Given the description of an element on the screen output the (x, y) to click on. 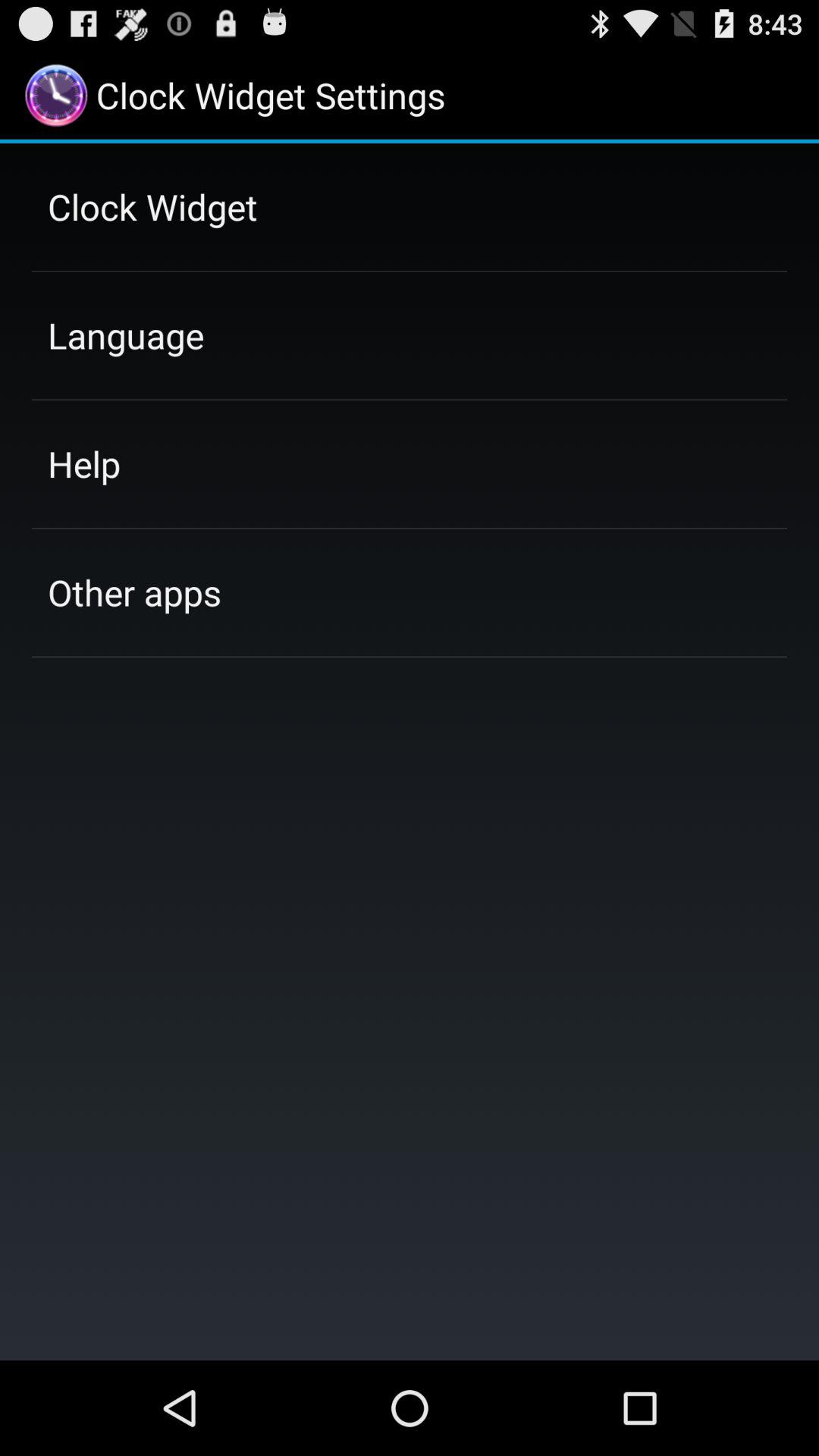
press the other apps (134, 592)
